Given the description of an element on the screen output the (x, y) to click on. 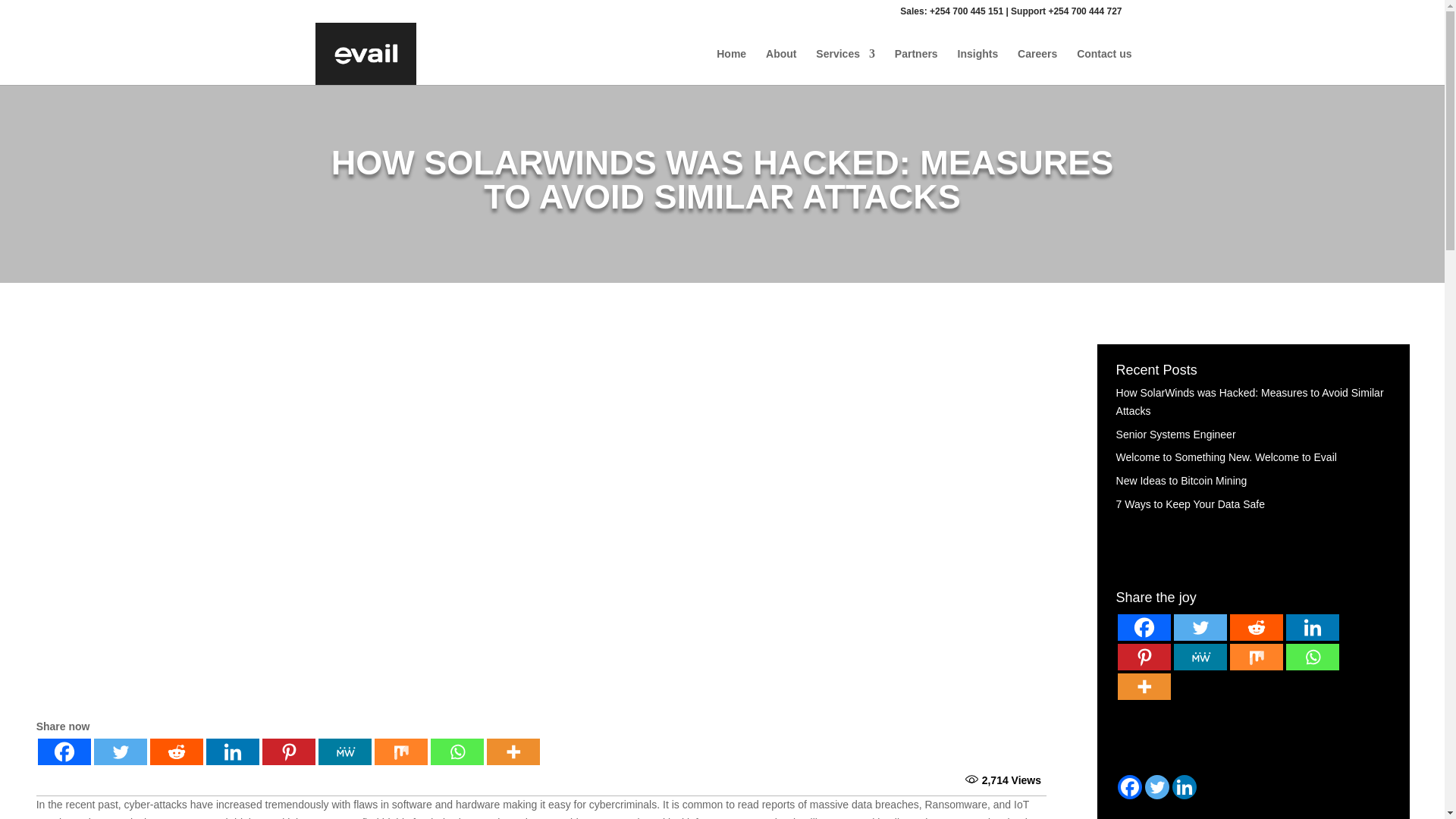
Pinterest (1144, 656)
Pinterest (288, 751)
Whatsapp (456, 751)
Twitter (1200, 627)
Contact us (1104, 66)
Mix (401, 751)
Facebook (1144, 627)
More (513, 751)
Linkedin (232, 751)
Reddit (176, 751)
